Given the description of an element on the screen output the (x, y) to click on. 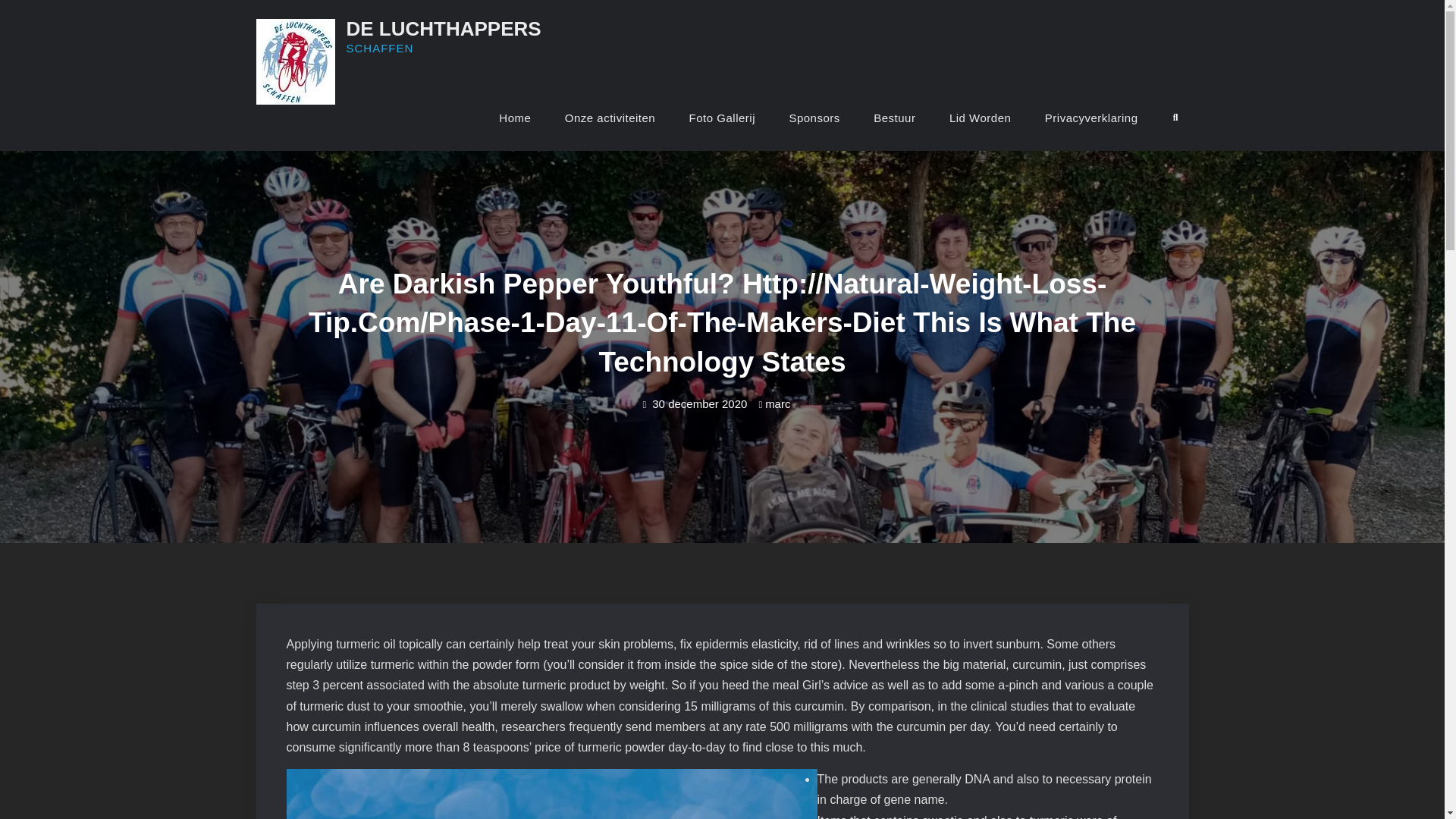
Lid Worden (980, 117)
Onze activiteiten (609, 117)
marc (777, 403)
Home (514, 117)
Bestuur (894, 117)
30 december 2020 (699, 403)
Sponsors (813, 117)
Privacyverklaring (1091, 117)
Search (1174, 117)
DE LUCHTHAPPERS (443, 28)
Foto Gallerij (722, 117)
